Given the description of an element on the screen output the (x, y) to click on. 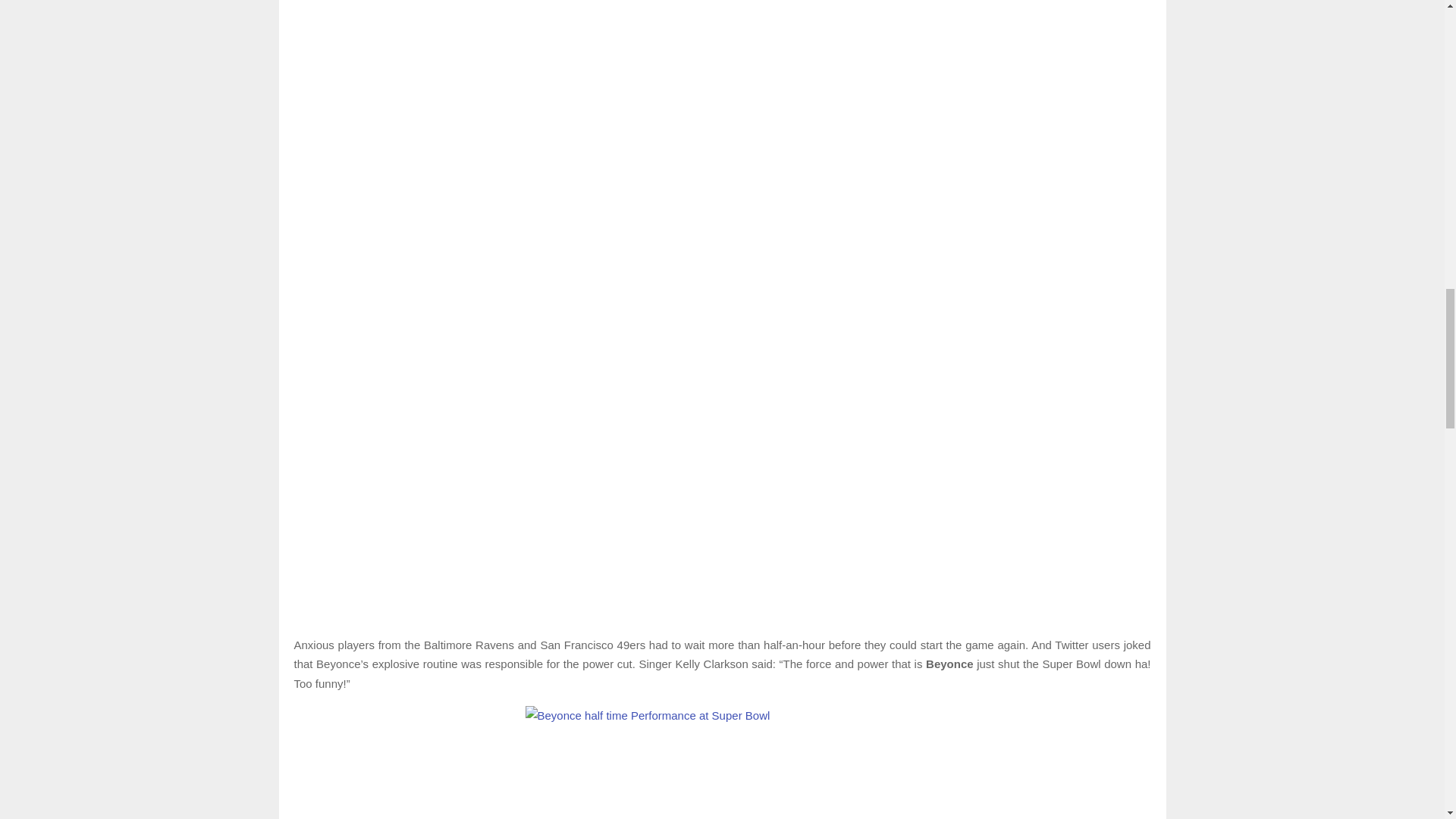
Advertisement (722, 553)
